Given the description of an element on the screen output the (x, y) to click on. 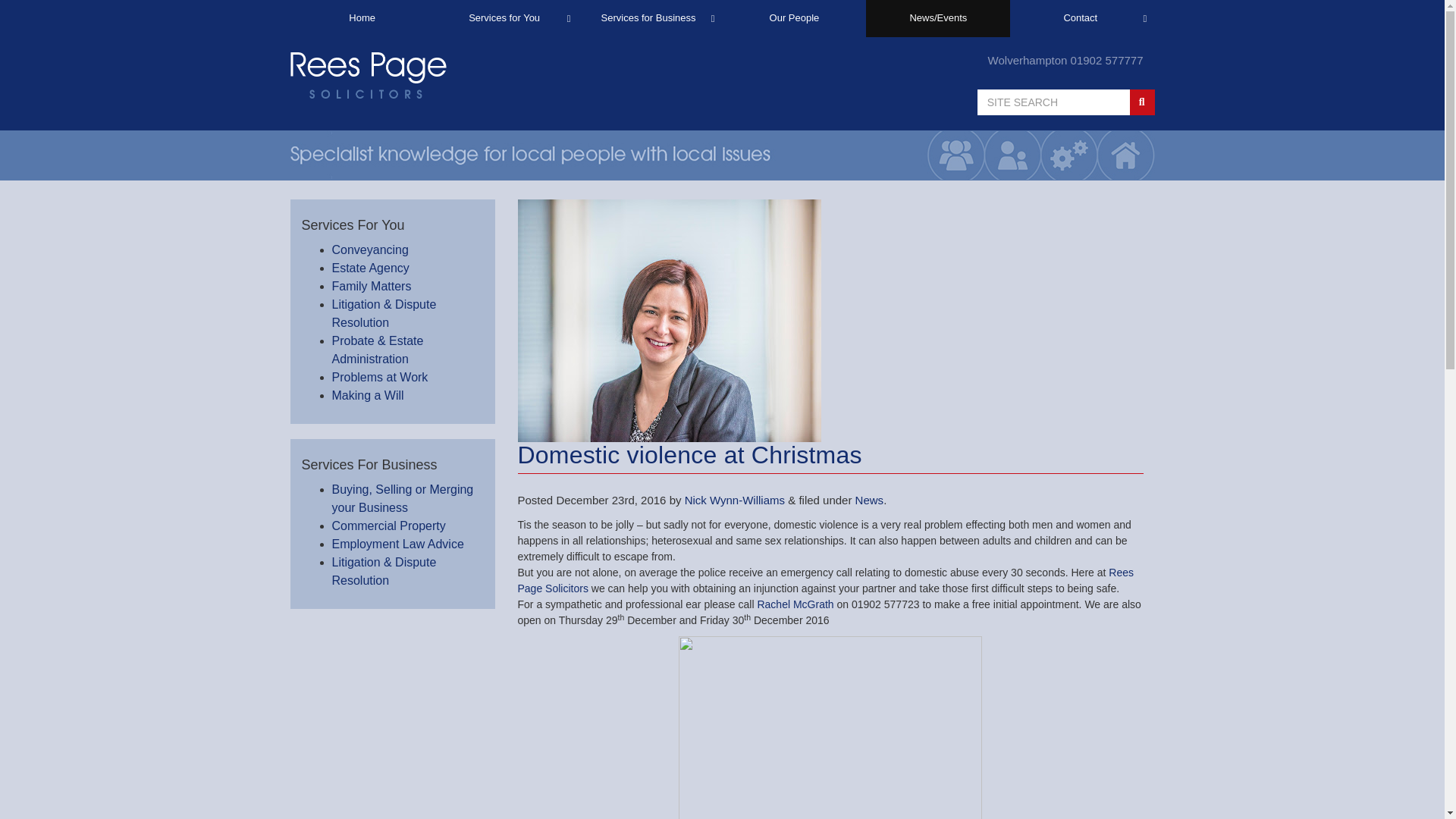
Posts by Nick Wynn-Williams (734, 499)
Services for You (505, 18)
Services for Business (650, 18)
Home (361, 18)
